Given the description of an element on the screen output the (x, y) to click on. 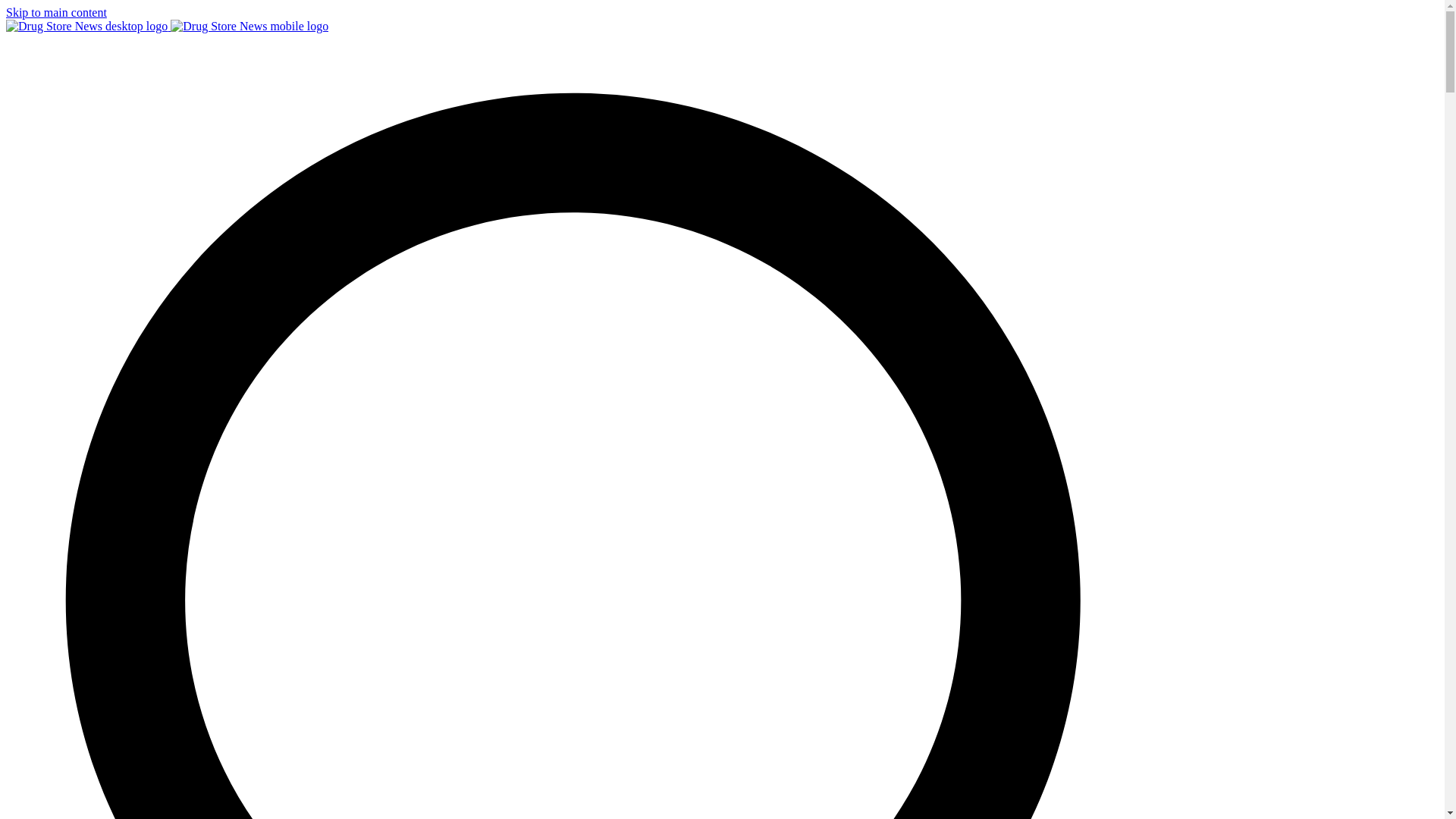
Skip to main content (55, 11)
